Given the description of an element on the screen output the (x, y) to click on. 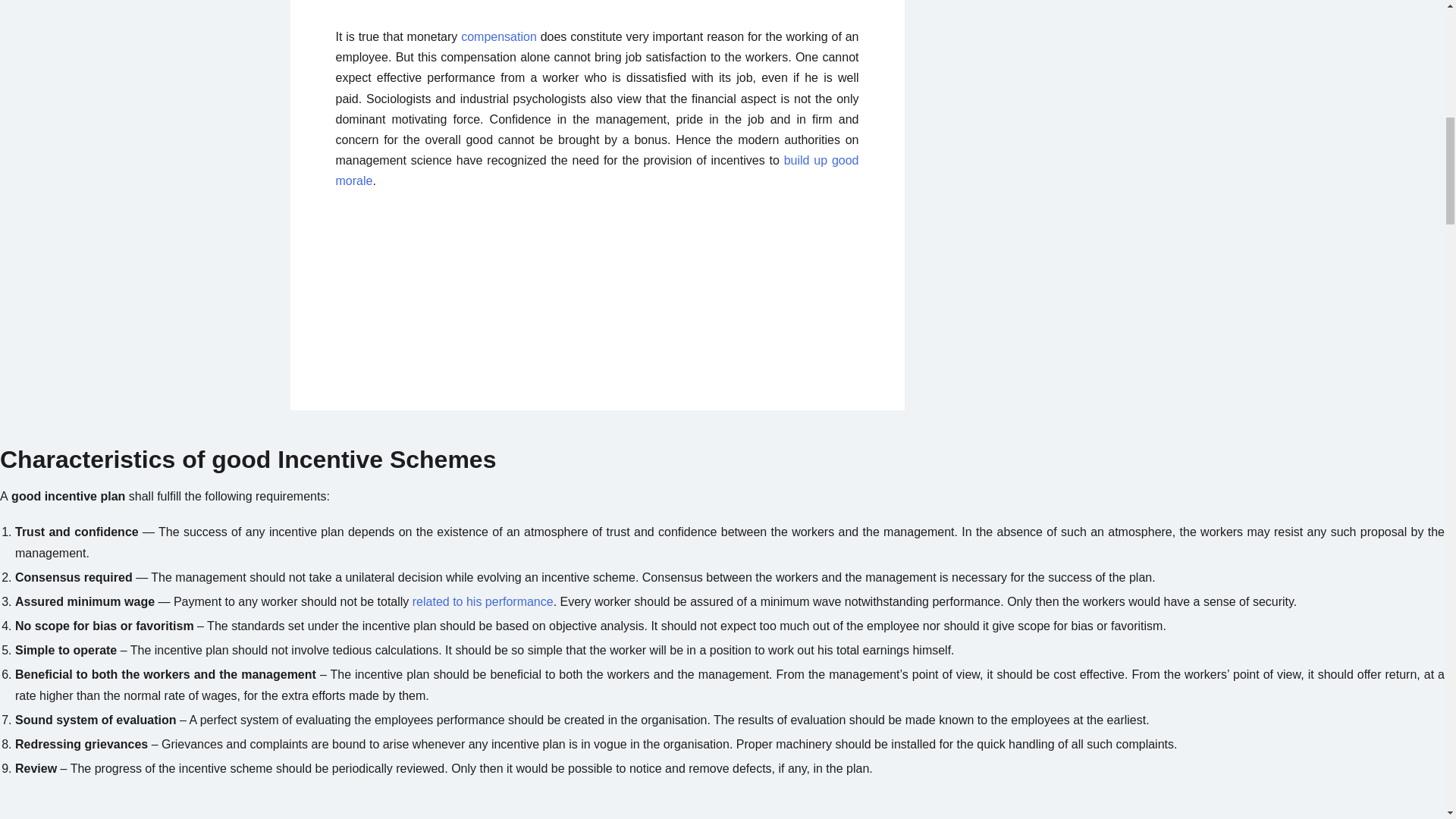
Concepts of Compensation and Compensation Management (499, 36)
build up good morale (596, 170)
compensation (499, 36)
Performance Related Pay (482, 601)
The Concept of Morale (596, 170)
related to his performance (482, 601)
